Given the description of an element on the screen output the (x, y) to click on. 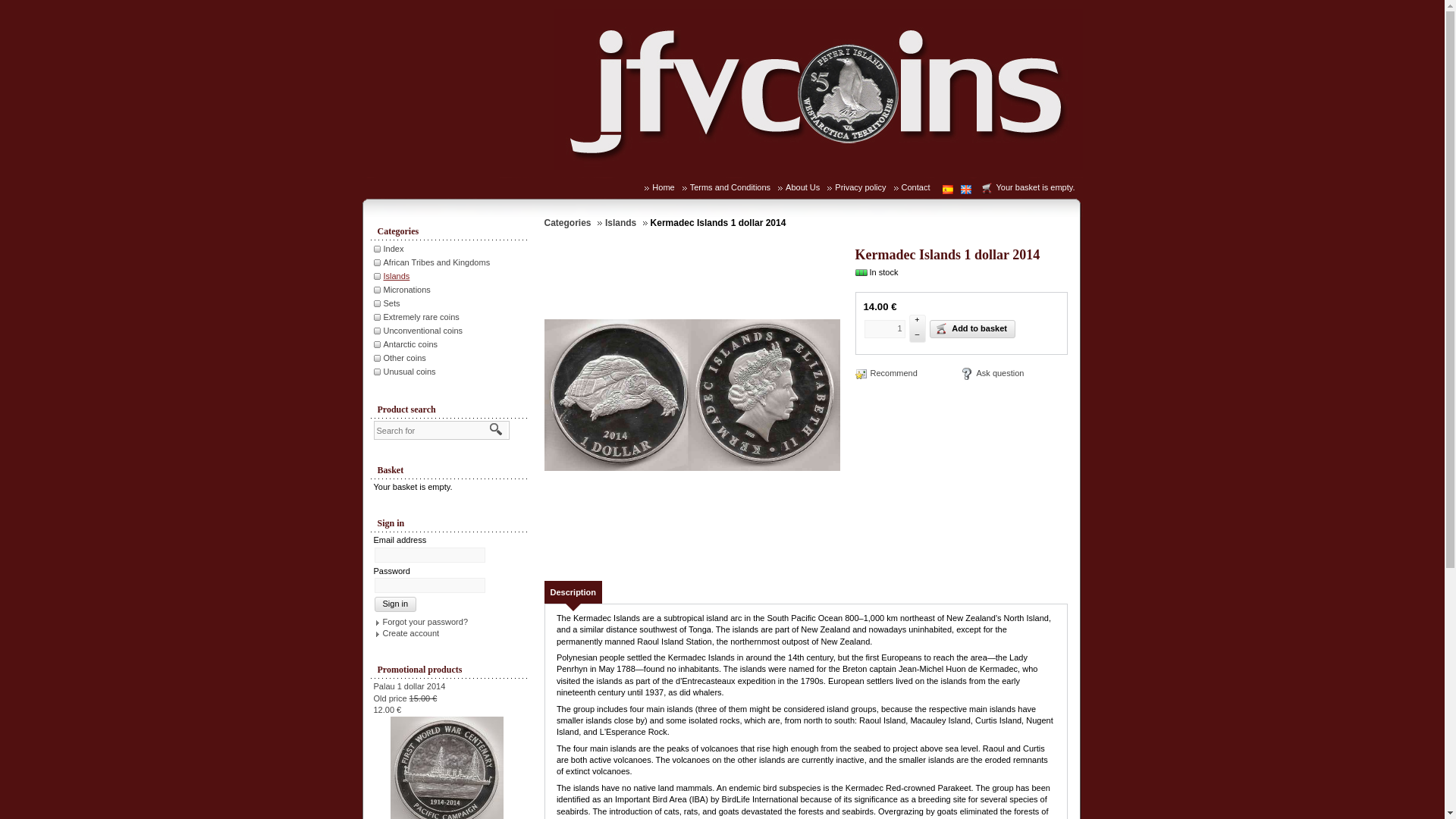
About Us (806, 186)
1 (884, 328)
Unconventional coins (424, 330)
Sign in (395, 603)
Islands (398, 276)
Privacy policy (863, 186)
Home (666, 186)
Description (573, 591)
Start search (496, 429)
Other coins (406, 357)
Categories (573, 222)
Go to product (446, 771)
Add to basket (972, 328)
Create account (405, 633)
Recommend (886, 373)
